Given the description of an element on the screen output the (x, y) to click on. 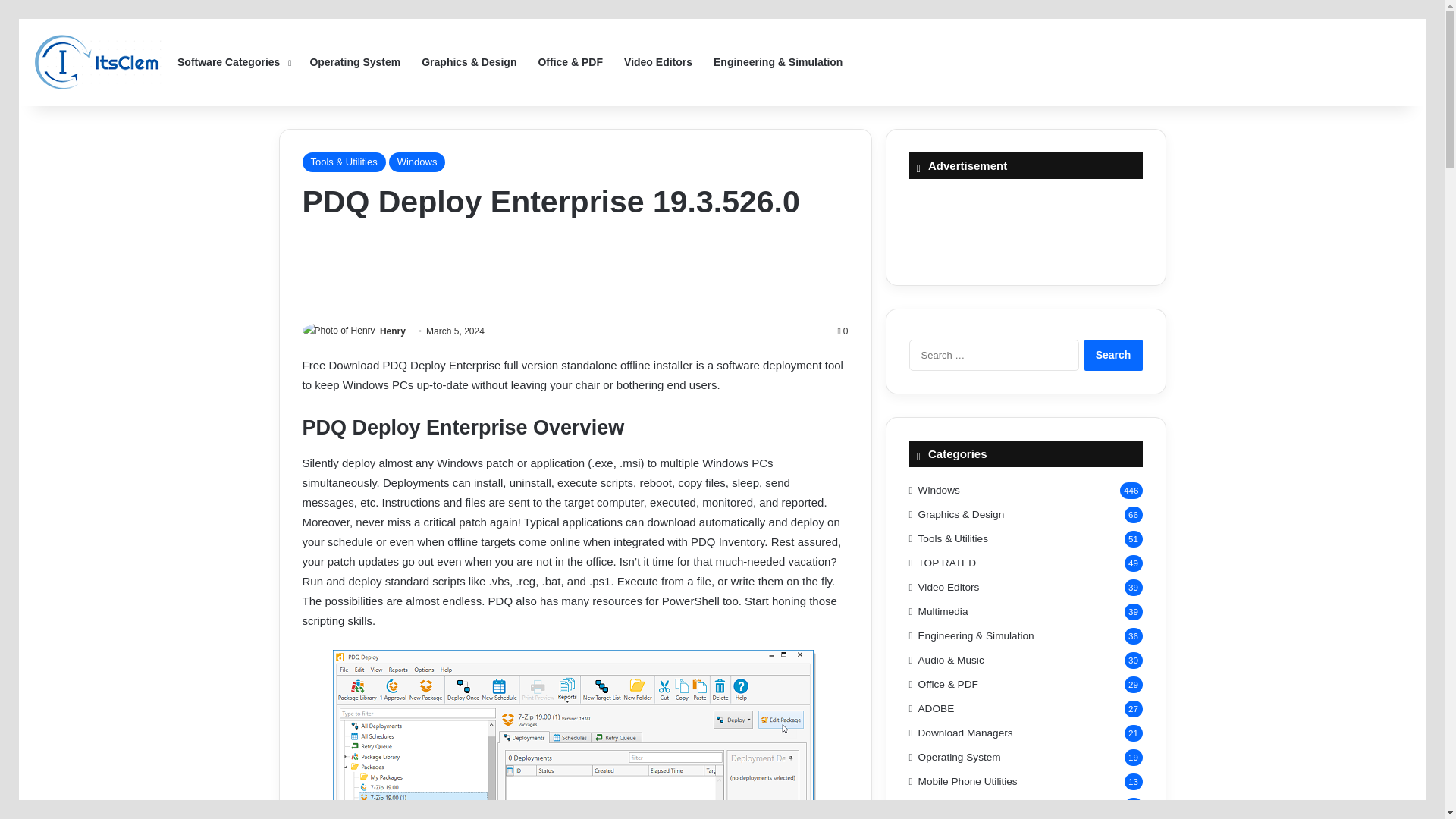
Search (1113, 355)
Operating System (354, 62)
ITSCLEM (98, 62)
Search (1113, 355)
Video Editors (657, 62)
Windows (416, 161)
Software Categories (232, 62)
Henry (393, 330)
Henry (393, 330)
